Given the description of an element on the screen output the (x, y) to click on. 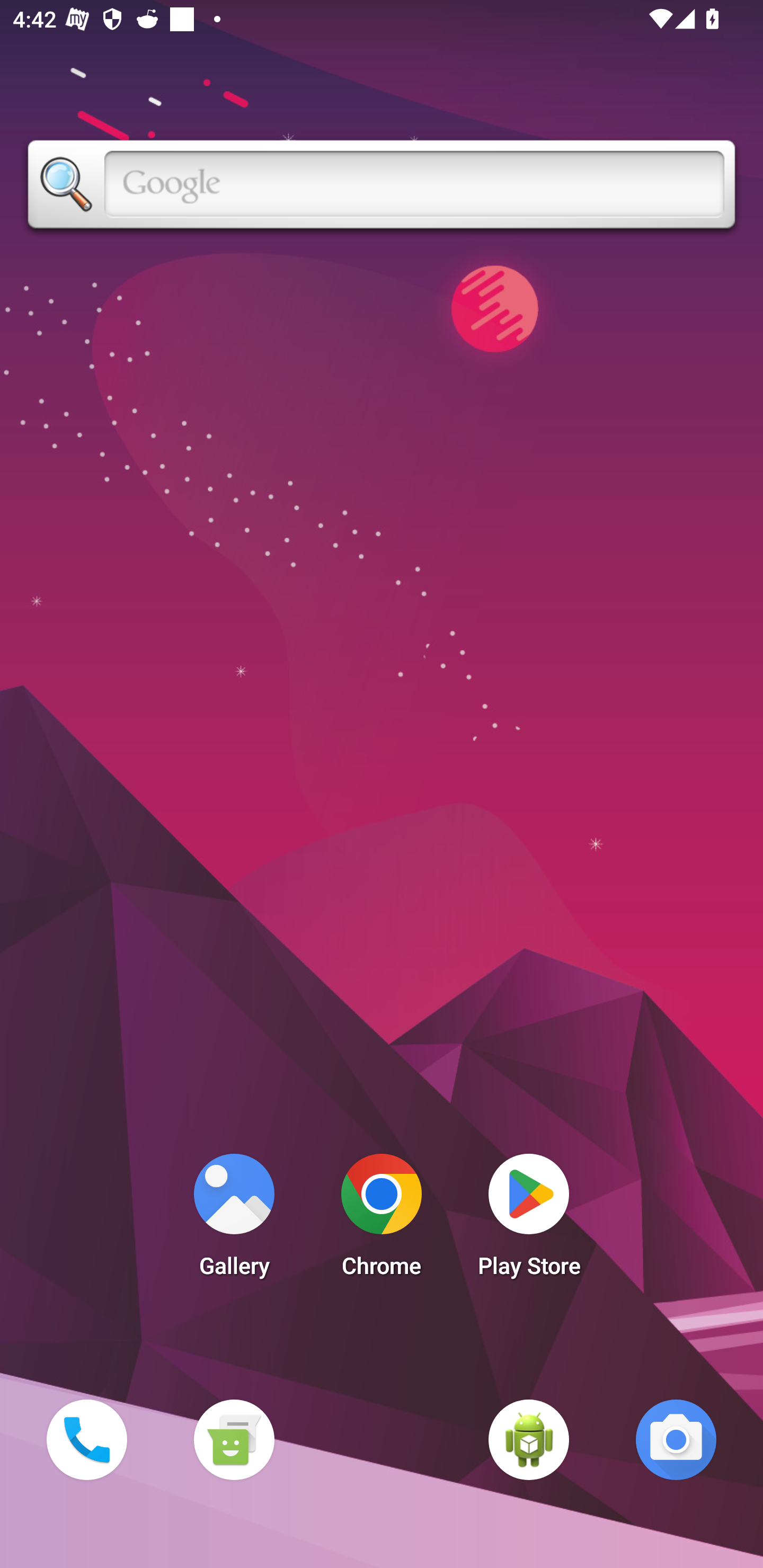
Gallery (233, 1220)
Chrome (381, 1220)
Play Store (528, 1220)
Phone (86, 1439)
Messaging (233, 1439)
WebView Browser Tester (528, 1439)
Camera (676, 1439)
